Given the description of an element on the screen output the (x, y) to click on. 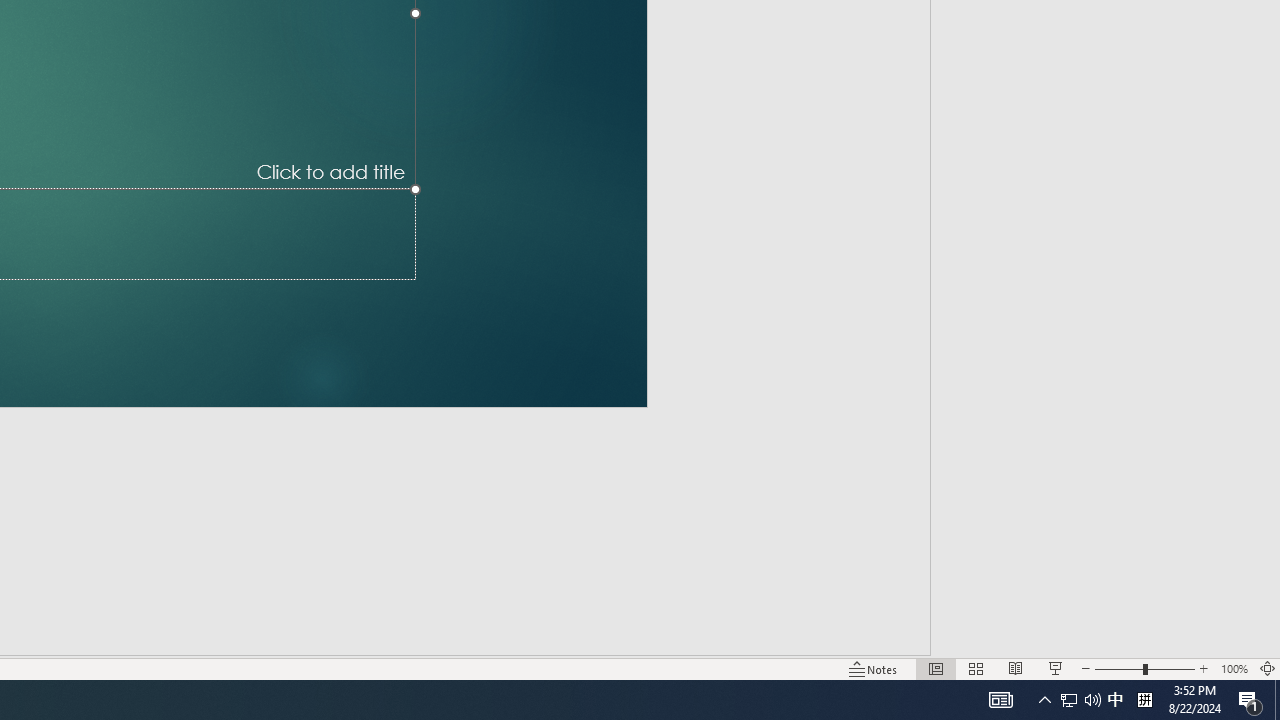
Zoom 100% (1234, 668)
